Given the description of an element on the screen output the (x, y) to click on. 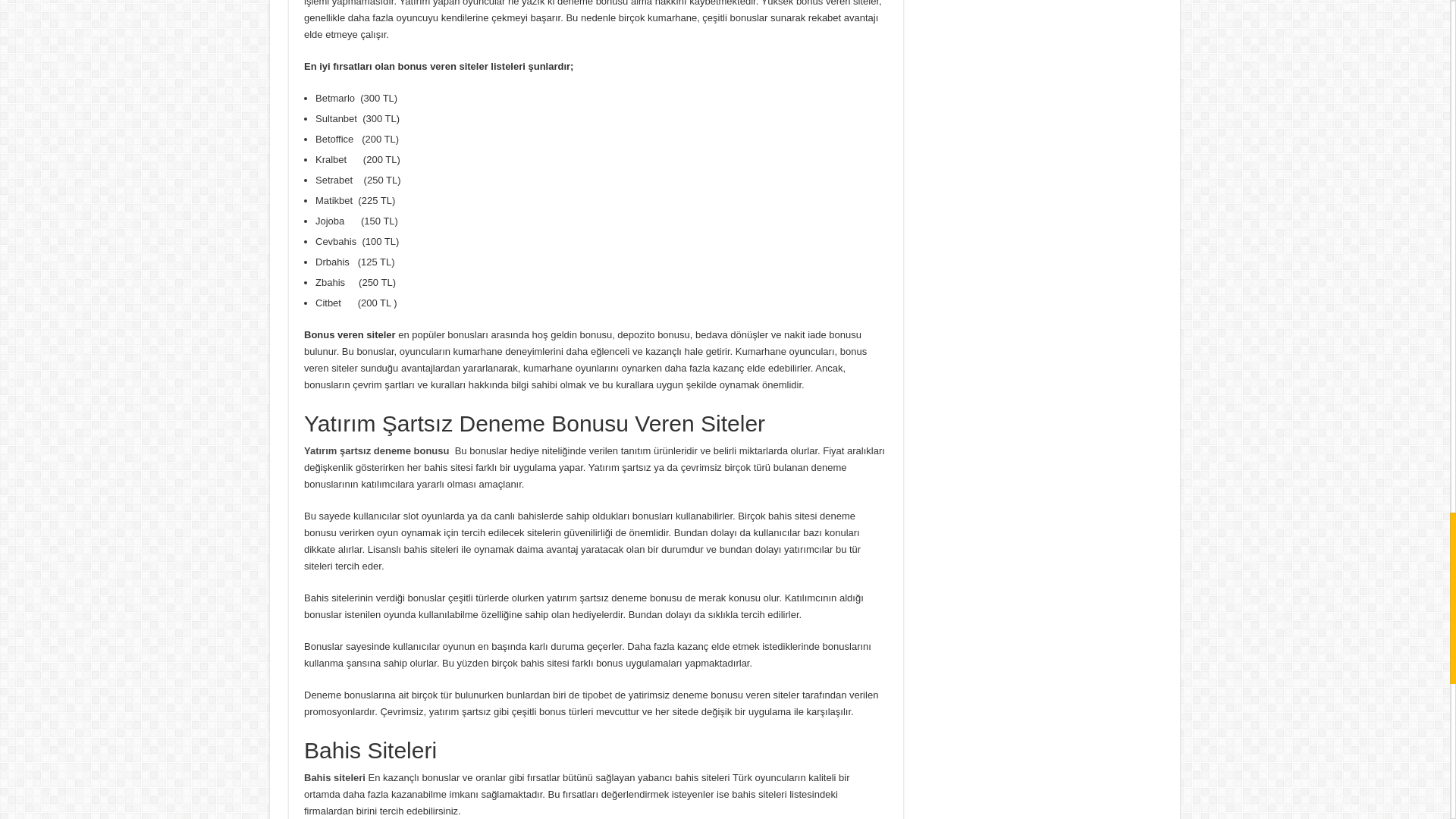
Bahis siteleri  (336, 777)
tipobet (596, 695)
